Given the description of an element on the screen output the (x, y) to click on. 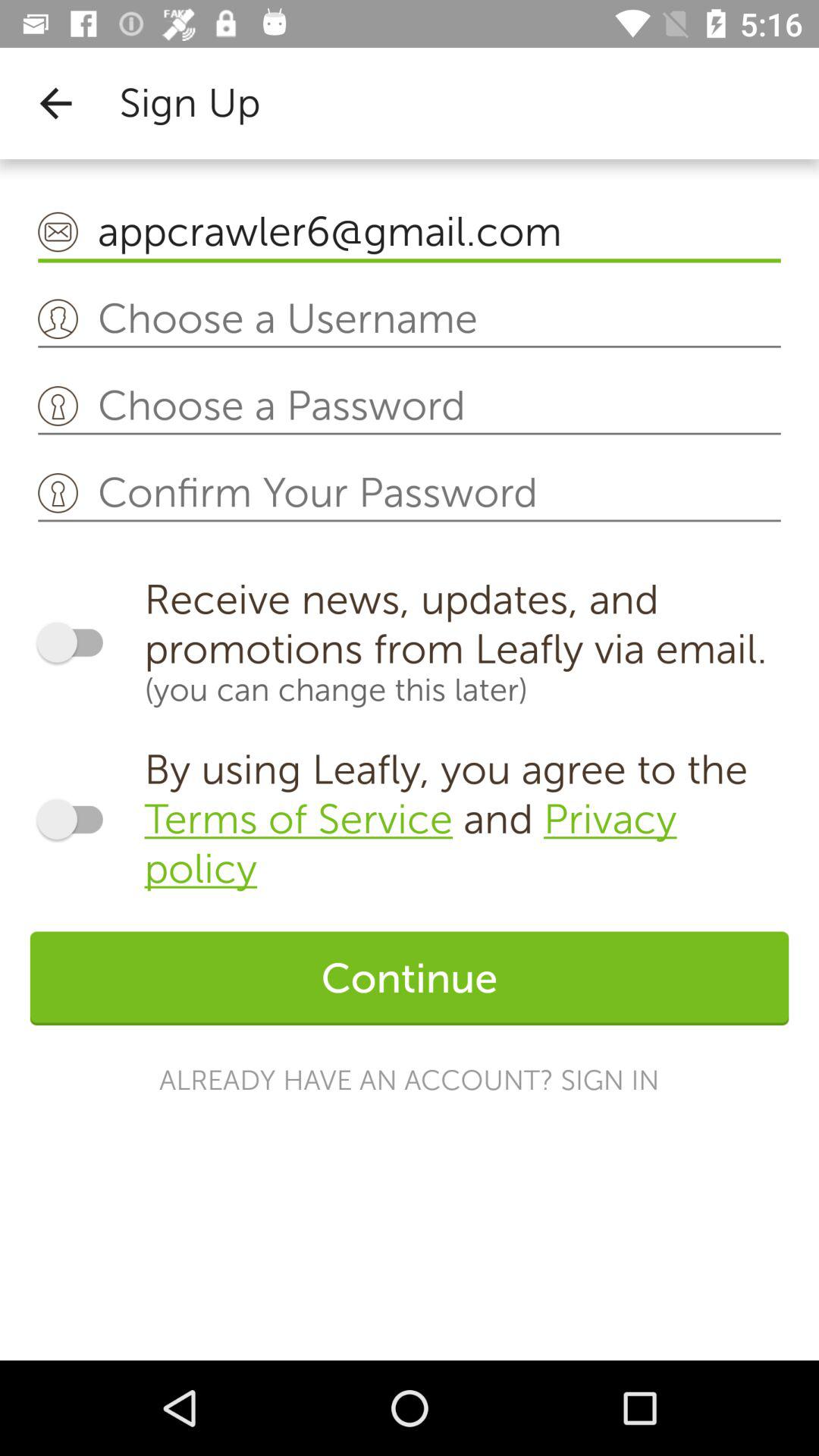
open the already have an (409, 1080)
